Given the description of an element on the screen output the (x, y) to click on. 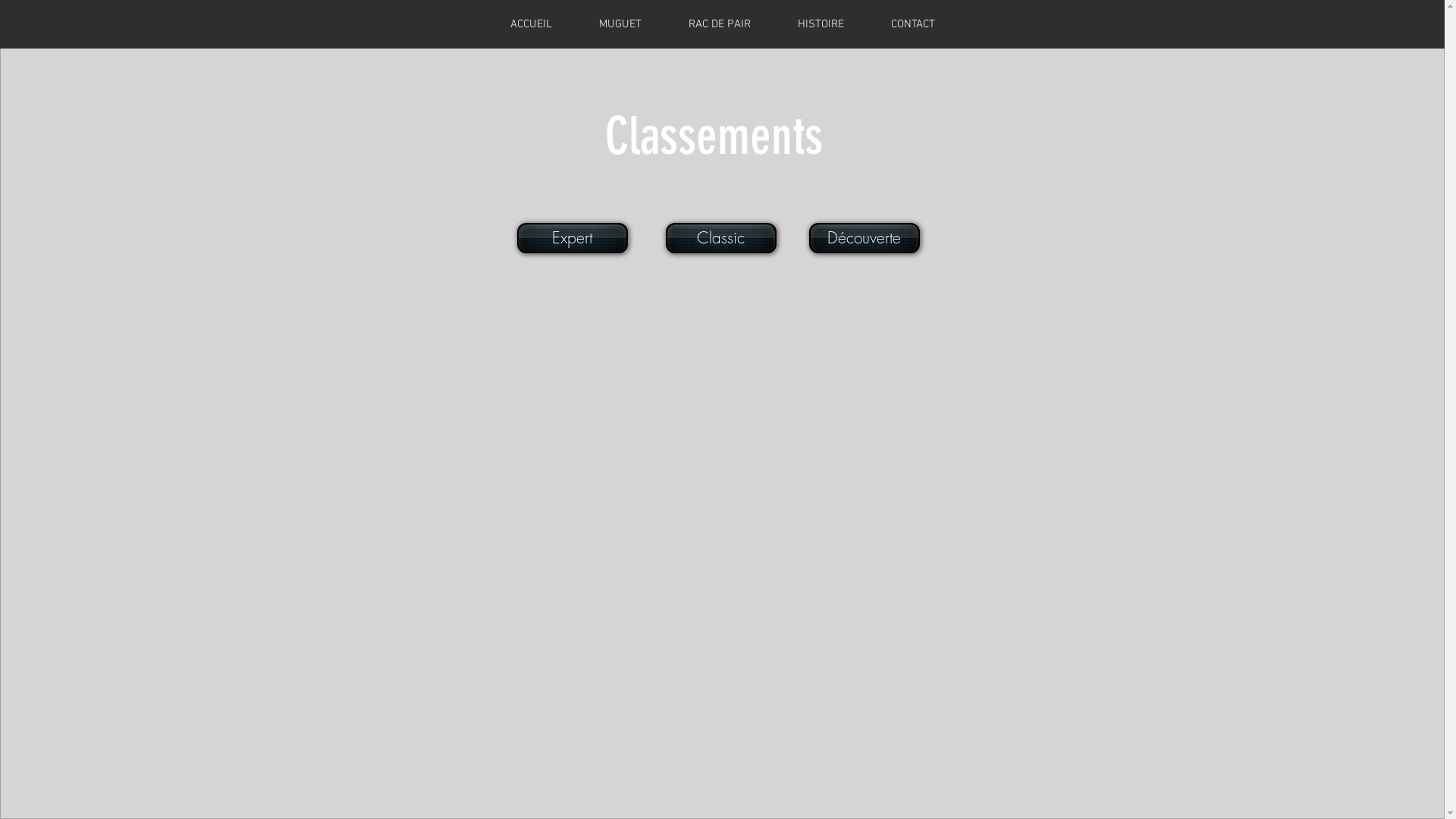
RAC DE PAIR Element type: text (718, 24)
Classic Element type: text (720, 237)
MUGUET Element type: text (619, 24)
CONTACT Element type: text (912, 24)
HISTOIRE Element type: text (819, 24)
ACCUEIL Element type: text (530, 24)
Expert Element type: text (572, 237)
